Given the description of an element on the screen output the (x, y) to click on. 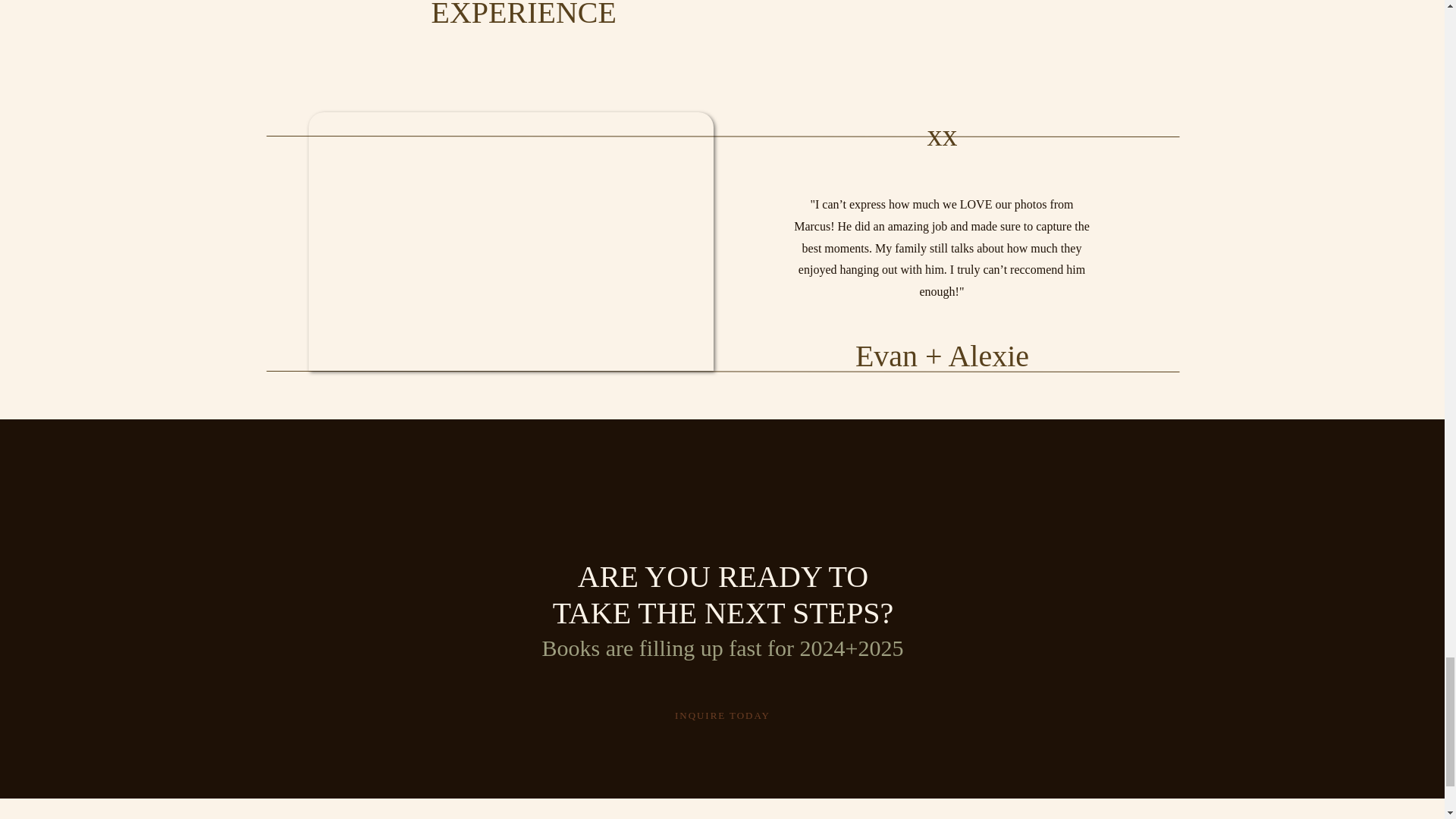
INQUIRE TODAY (722, 715)
